Given the description of an element on the screen output the (x, y) to click on. 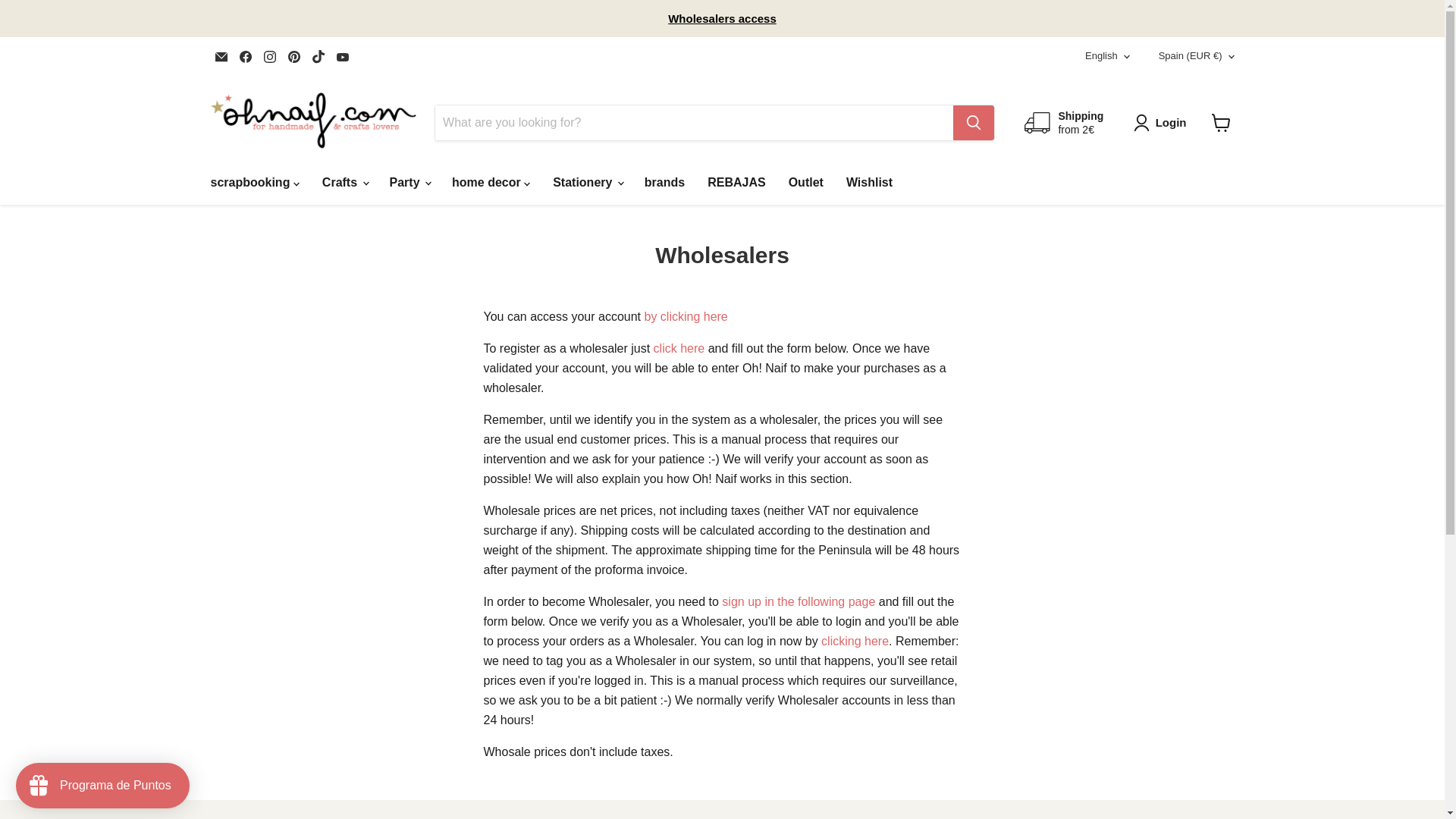
YouTube (342, 55)
Instagram (270, 55)
TikTok (318, 55)
Find us on Pinterest (293, 55)
Find us on YouTube (342, 55)
Pinterest (293, 55)
Wholesalers access (722, 18)
Email (221, 55)
Find us on TikTok (318, 55)
Find us on Facebook (245, 55)
English (1103, 56)
Facebook (245, 55)
Email Oh! Naif (221, 55)
Find us on Instagram (270, 55)
